Given the description of an element on the screen output the (x, y) to click on. 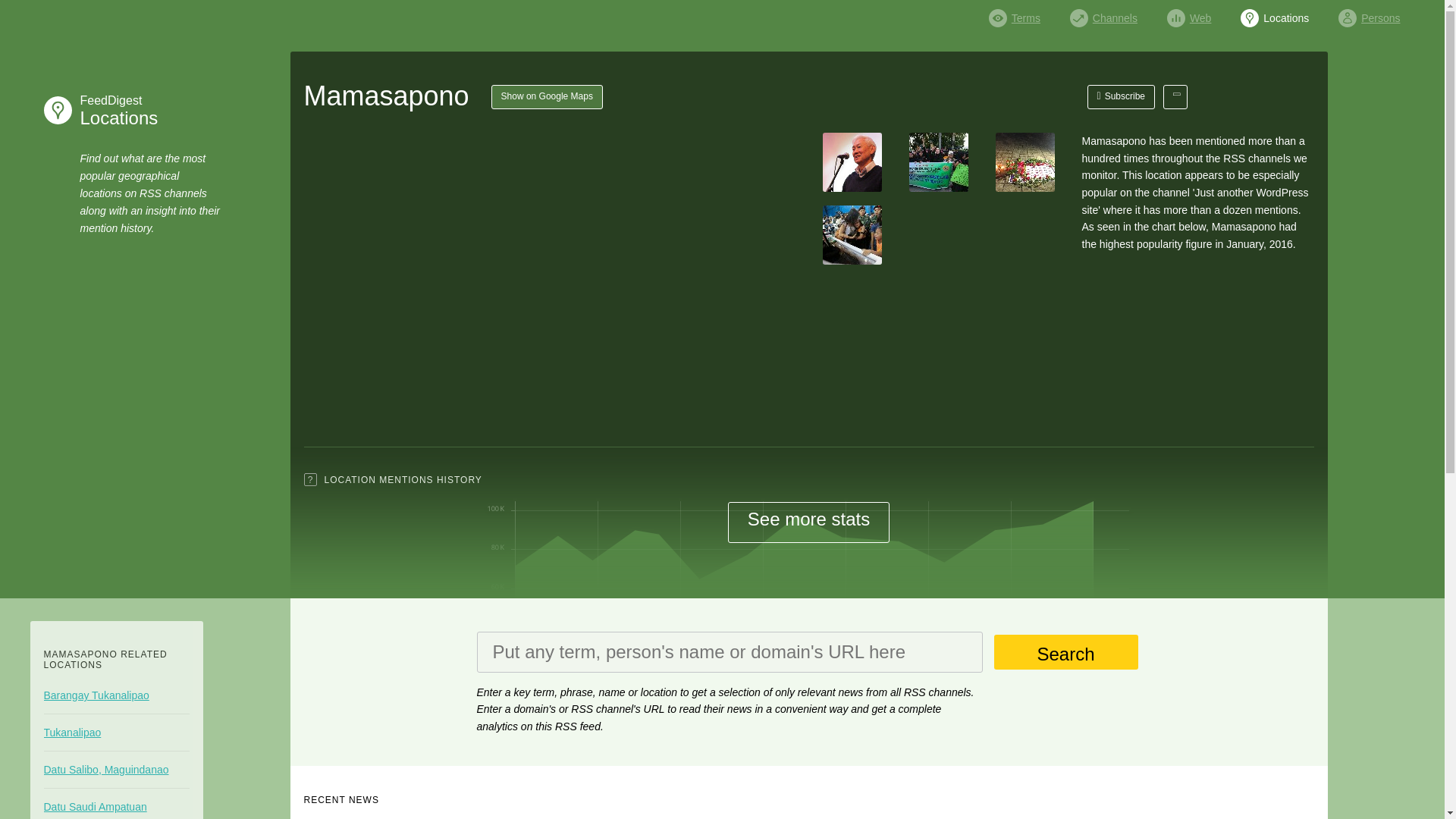
Locations (1274, 14)
Terms (1014, 14)
Tukanalipao (116, 732)
Persons (114, 109)
Barangay Tukanalipao (1368, 14)
Datu Salibo, Maguindanao (116, 695)
Subscribe (116, 769)
Show on Google Maps (1121, 96)
Web (547, 96)
